Given the description of an element on the screen output the (x, y) to click on. 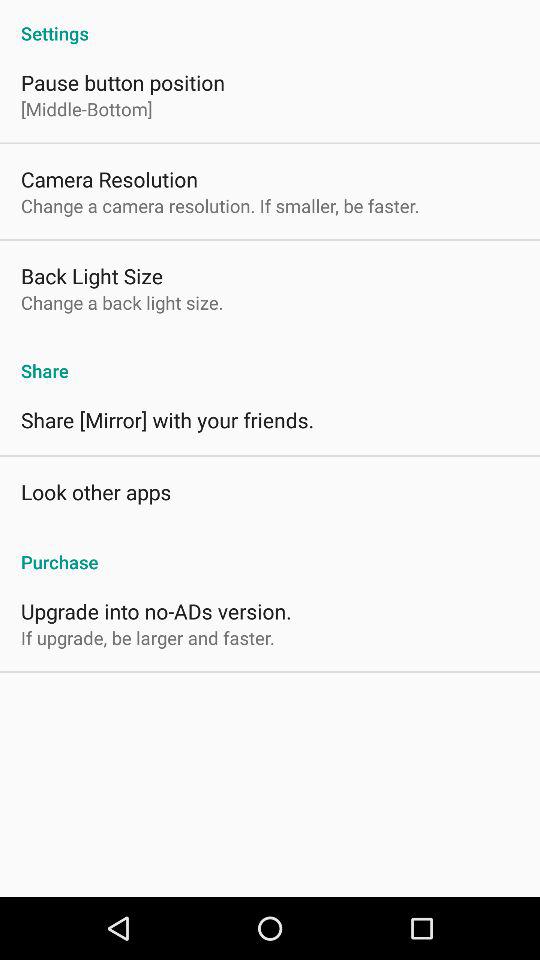
select the item above camera resolution icon (86, 108)
